Given the description of an element on the screen output the (x, y) to click on. 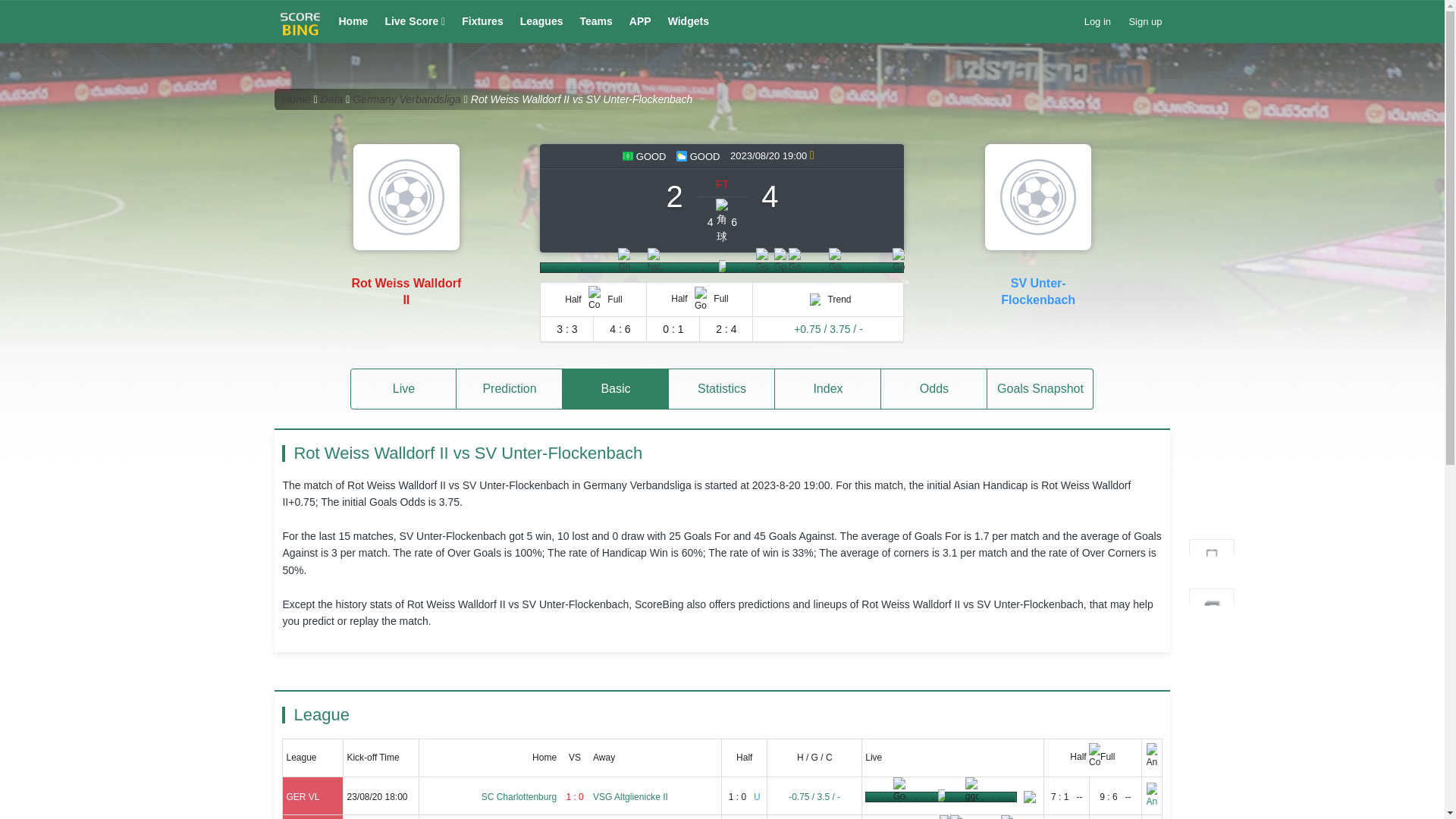
Widgets (688, 21)
Sign up (1144, 21)
Germany Verbandsliga (406, 99)
Data (331, 99)
Odds (933, 388)
Log in (1097, 21)
Prediction (509, 388)
SC Charlottenburg (518, 796)
VSG Altglienicke II (630, 796)
Live (403, 388)
